Given the description of an element on the screen output the (x, y) to click on. 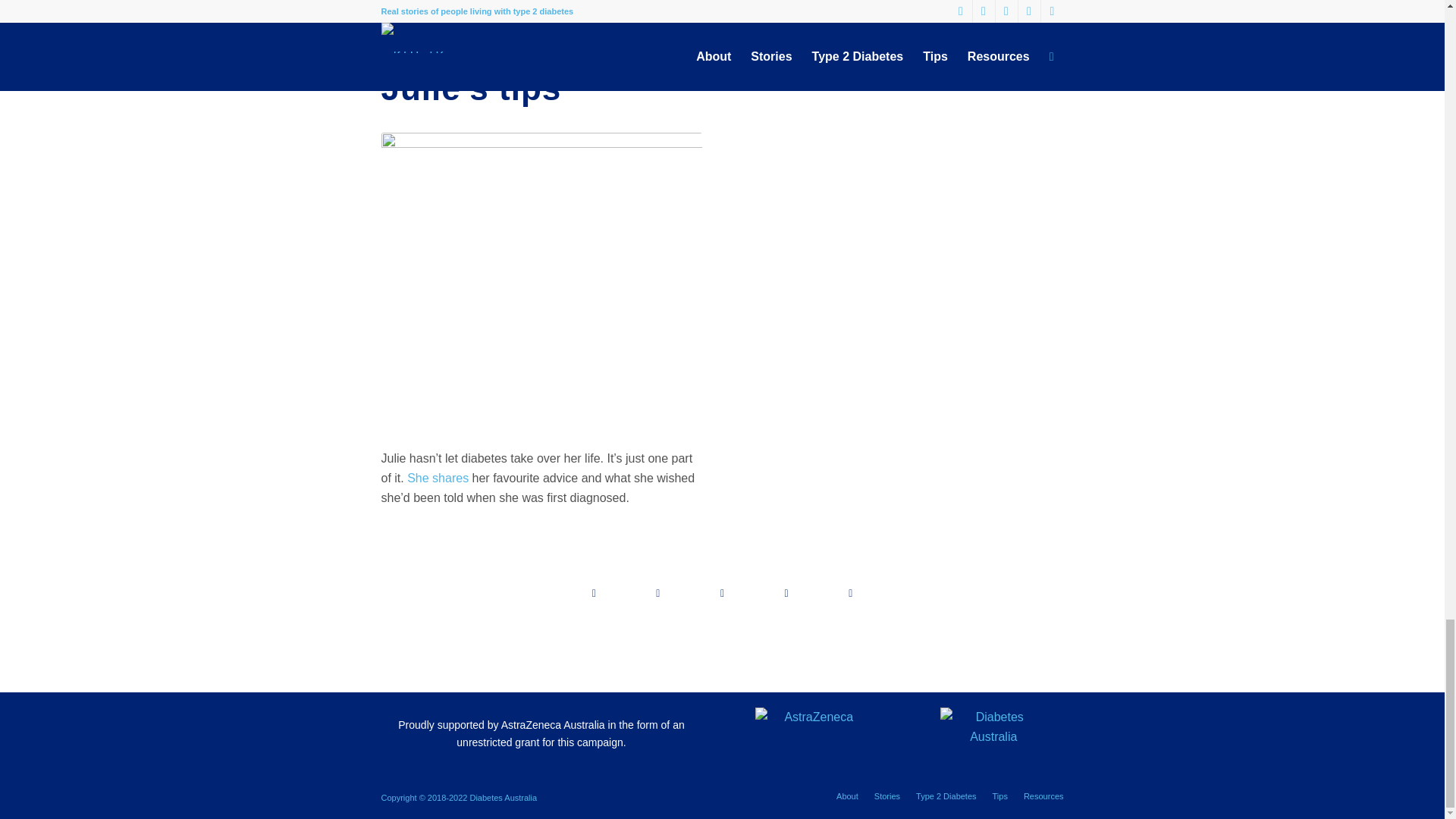
She shares (437, 477)
Stories (887, 795)
About (847, 795)
Tips (999, 795)
Type 2 Diabetes (945, 795)
Resources (1043, 795)
